Given the description of an element on the screen output the (x, y) to click on. 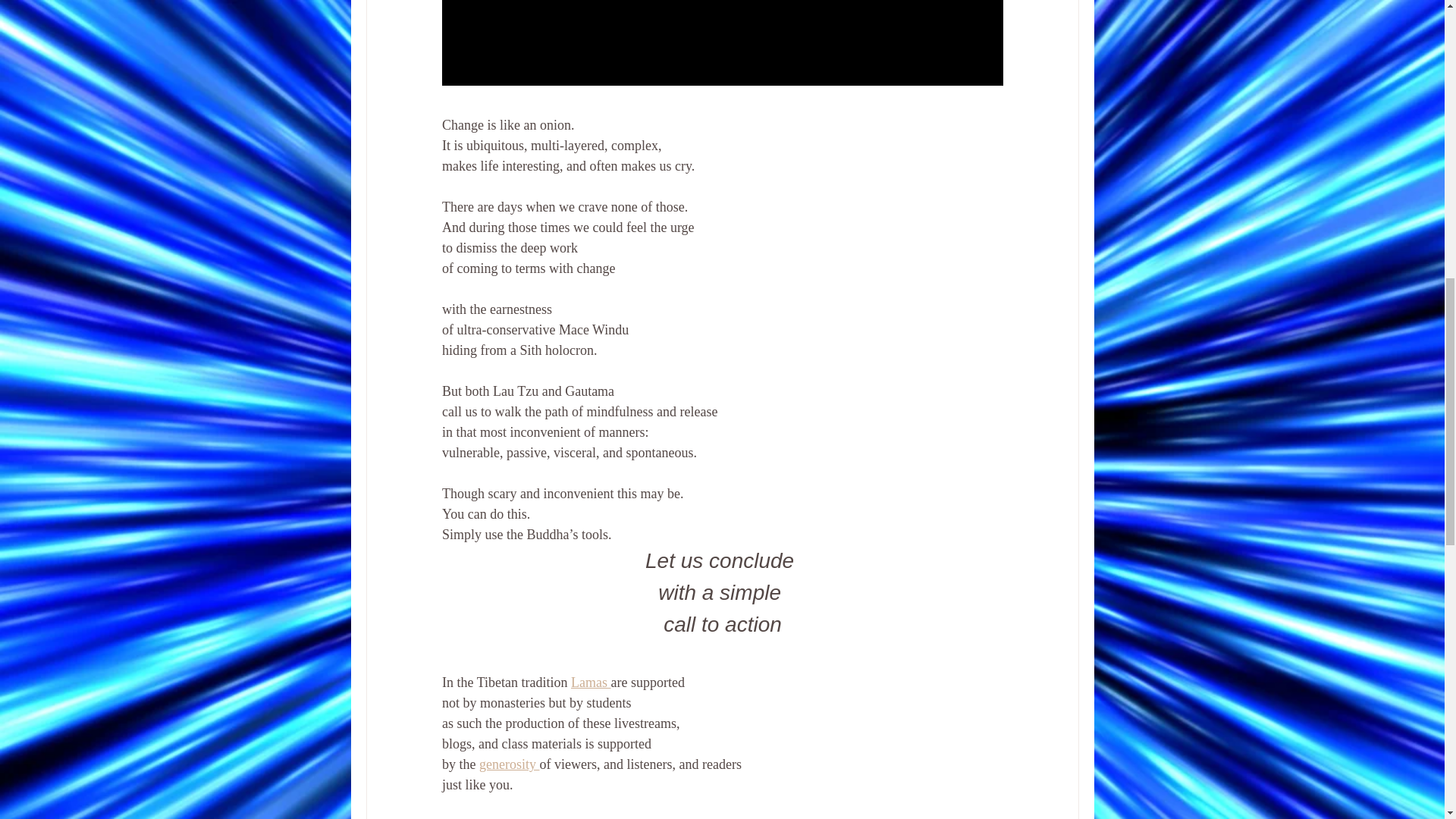
Lamas  (590, 682)
generosity  (508, 764)
livestream (559, 818)
